Given the description of an element on the screen output the (x, y) to click on. 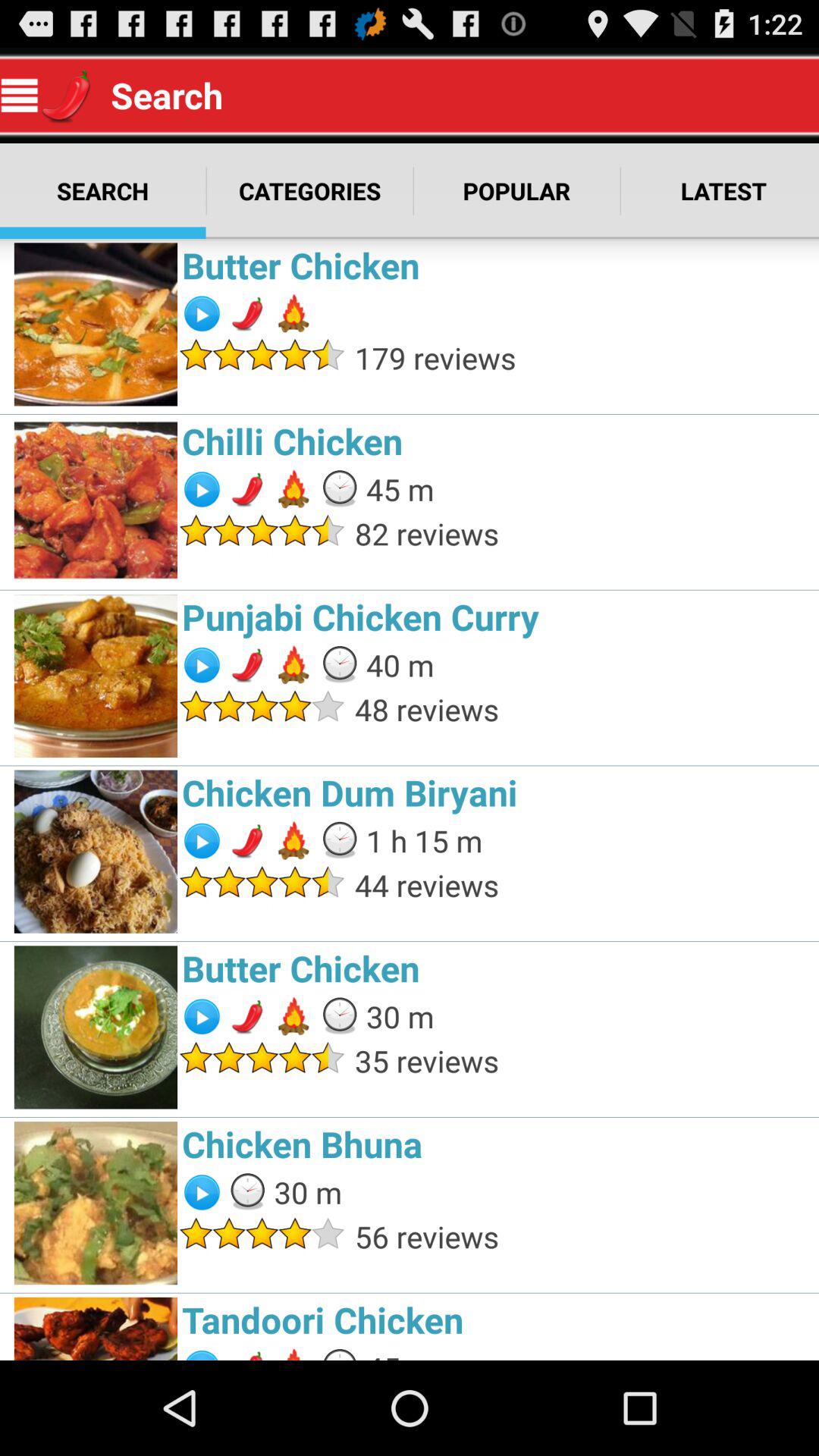
turn on chicken bhuna (496, 1143)
